Given the description of an element on the screen output the (x, y) to click on. 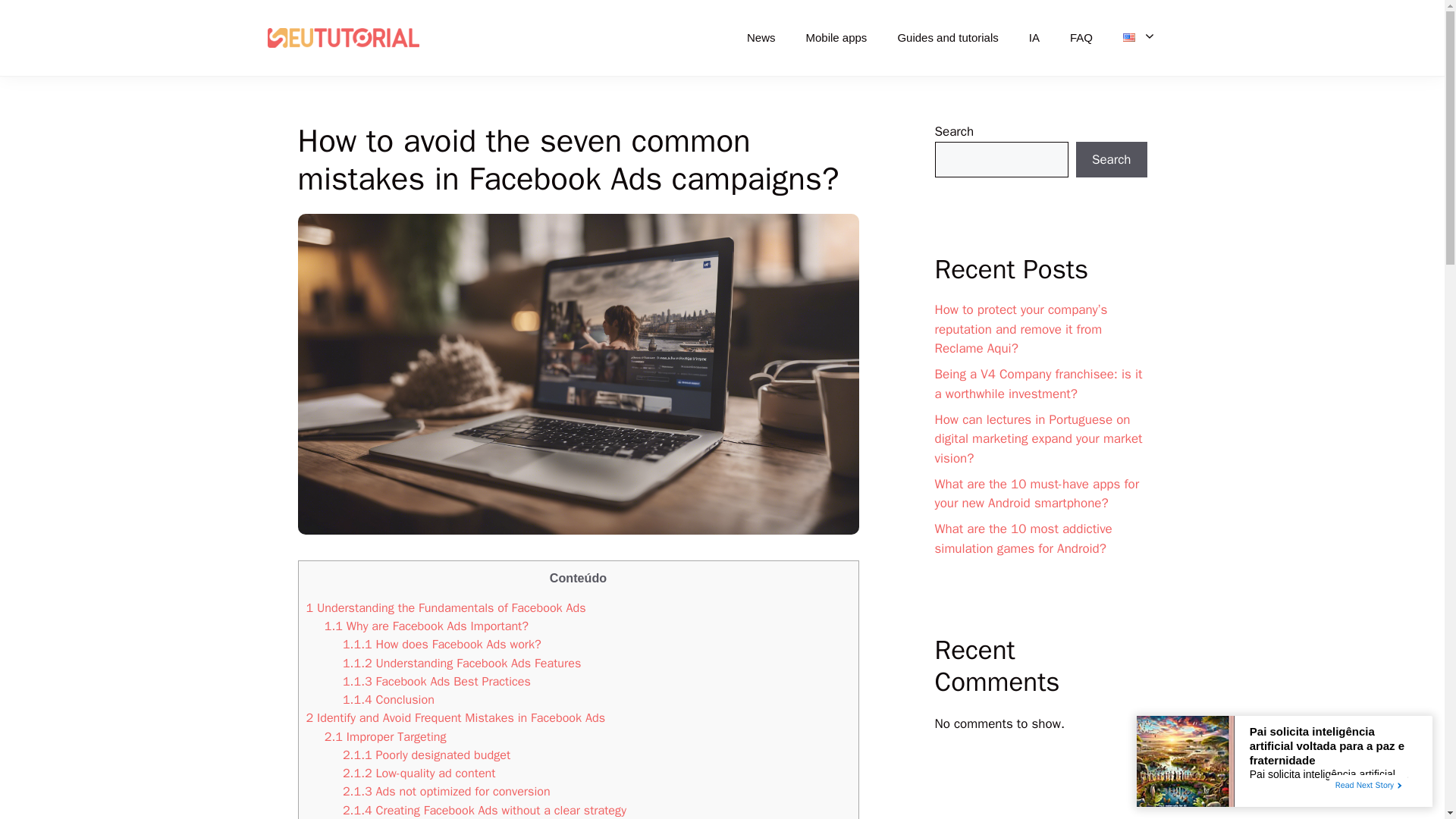
2.1 Improper Targeting (385, 736)
2.1.1 Poorly designated budget (426, 754)
News (761, 37)
2.1.4 Creating Facebook Ads without a clear strategy (484, 810)
2 Identify and Avoid Frequent Mistakes in Facebook Ads (455, 717)
1.1.3 Facebook Ads Best Practices (436, 681)
2.1.2 Low-quality ad content (419, 772)
Guides and tutorials (947, 37)
2.1.3 Ads not optimized for conversion (446, 790)
Mobile apps (836, 37)
1.1.2 Understanding Facebook Ads Features (461, 662)
IA (1033, 37)
1.1.1 How does Facebook Ads work? (441, 643)
1.1 Why are Facebook Ads Important? (426, 625)
FAQ (1081, 37)
